Given the description of an element on the screen output the (x, y) to click on. 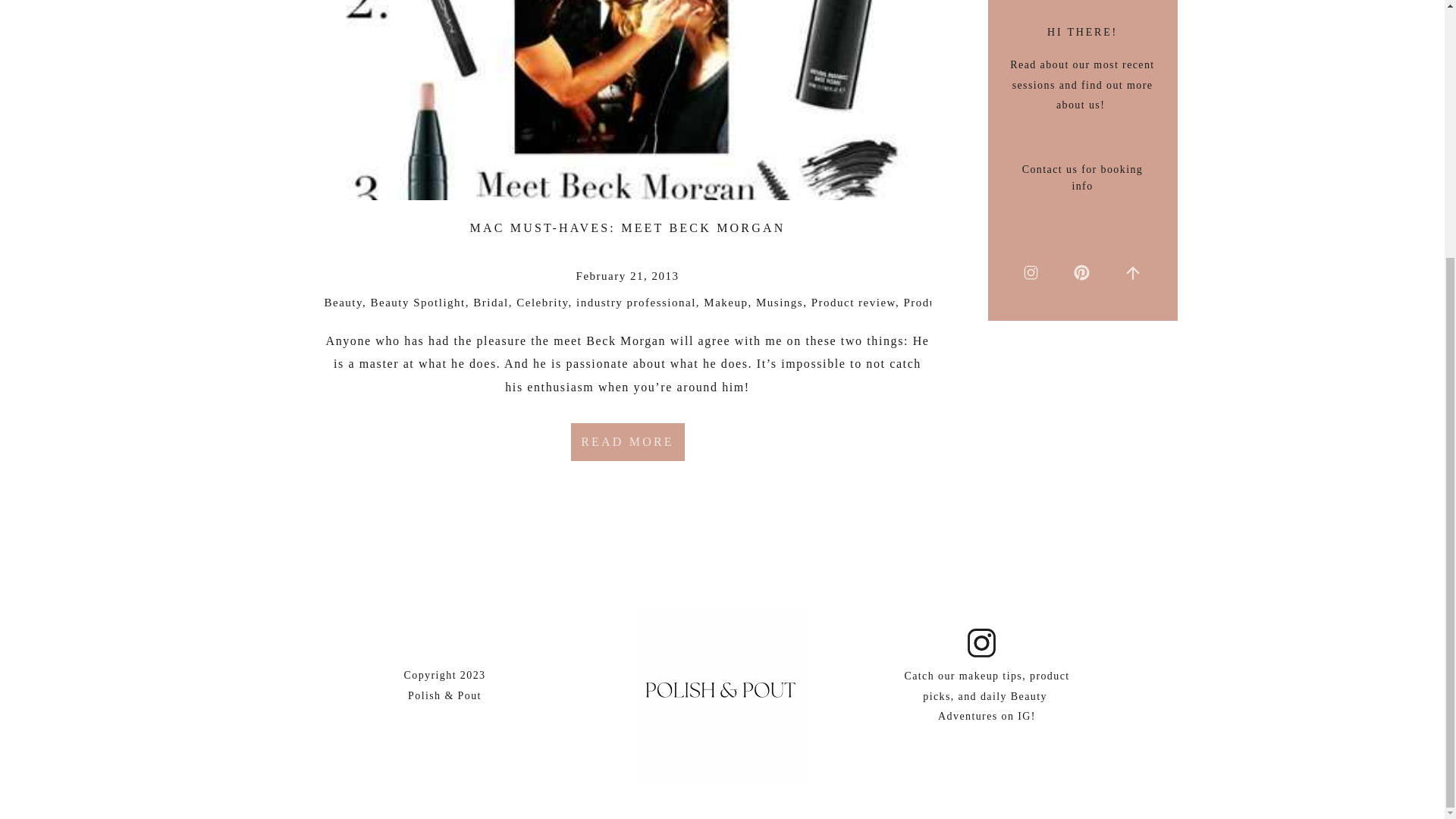
READ MORE (627, 442)
Products (927, 302)
Beauty Spotlight (418, 302)
industry professional (635, 302)
Bridal (490, 302)
Contact us for booking info (1082, 183)
MAC Must-Haves: Meet Beck Morgan (627, 442)
MAC MUST-HAVES: MEET BECK MORGAN (628, 227)
MAC Must-Haves: Meet Beck Morgan (627, 99)
Beck Morgan (625, 340)
Makeup (725, 302)
Product review (852, 302)
Beauty (343, 302)
Musings (779, 302)
Celebrity (541, 302)
